Given the description of an element on the screen output the (x, y) to click on. 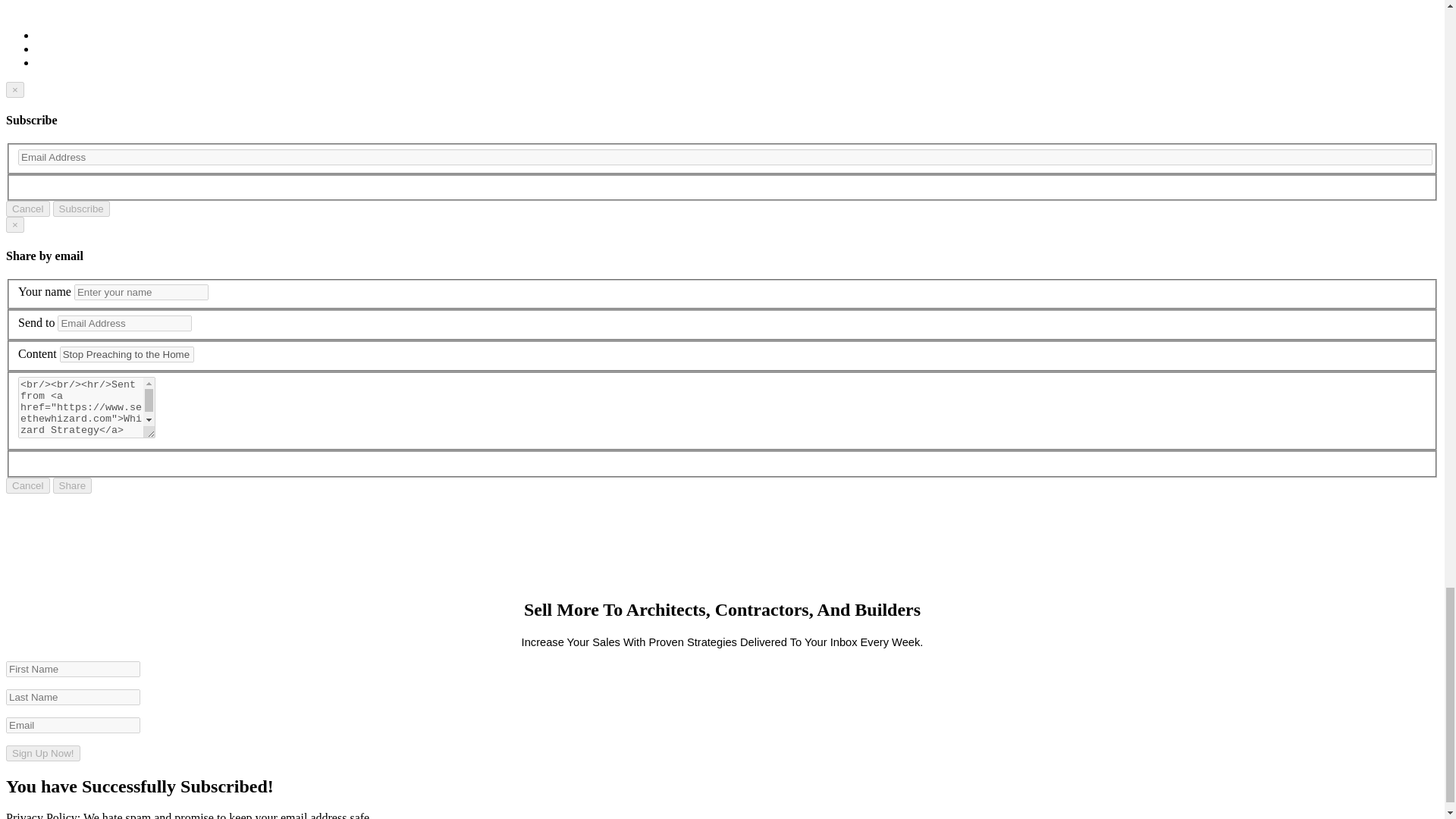
Cancel (27, 208)
Stop Preaching to the Home Improvement Choir (126, 354)
Share (72, 485)
Cancel (27, 485)
Subscribe (81, 208)
